Given the description of an element on the screen output the (x, y) to click on. 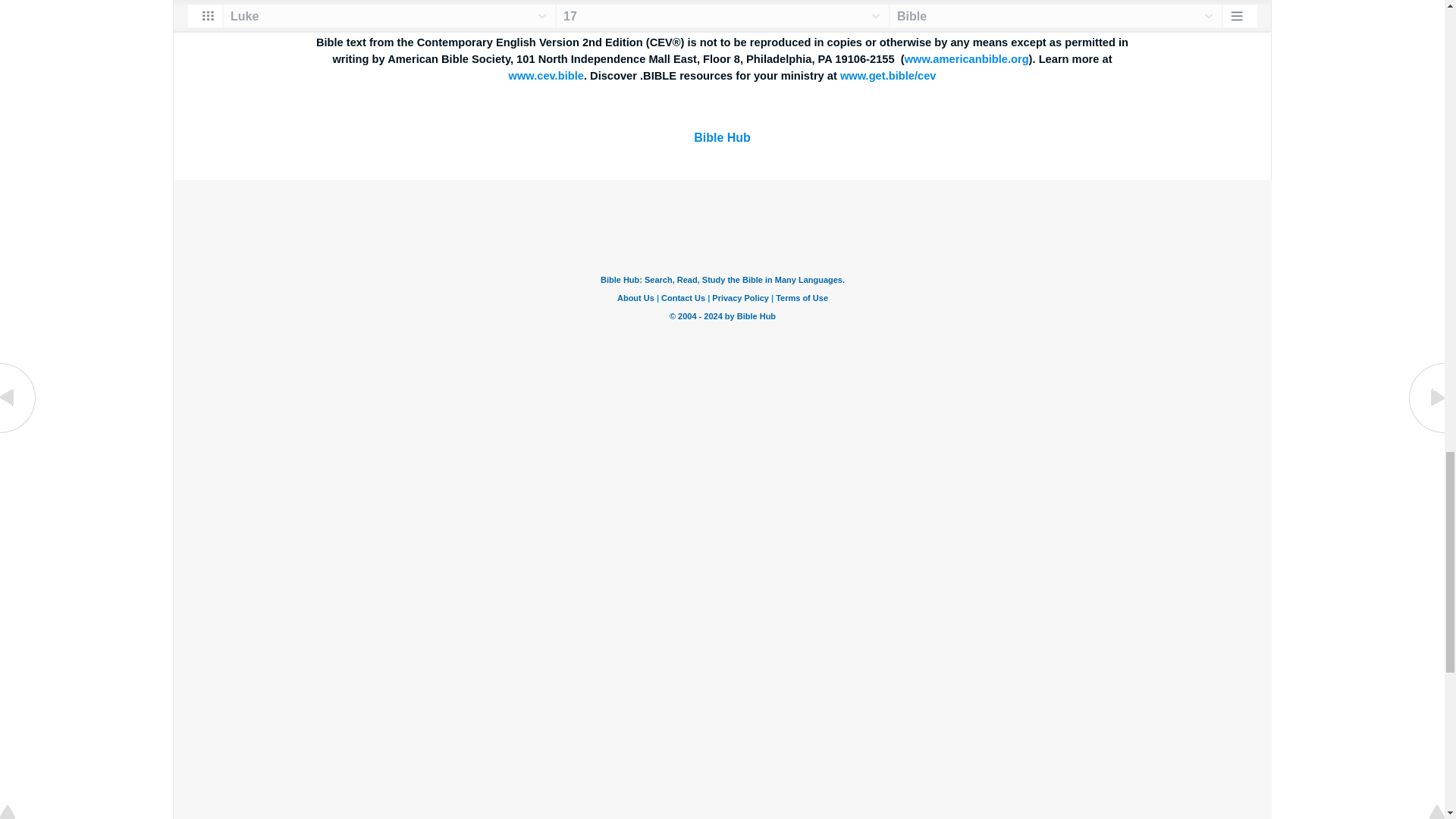
www.americanbible.org (966, 59)
Bible Hub (722, 137)
www.cev.bible (545, 75)
